Given the description of an element on the screen output the (x, y) to click on. 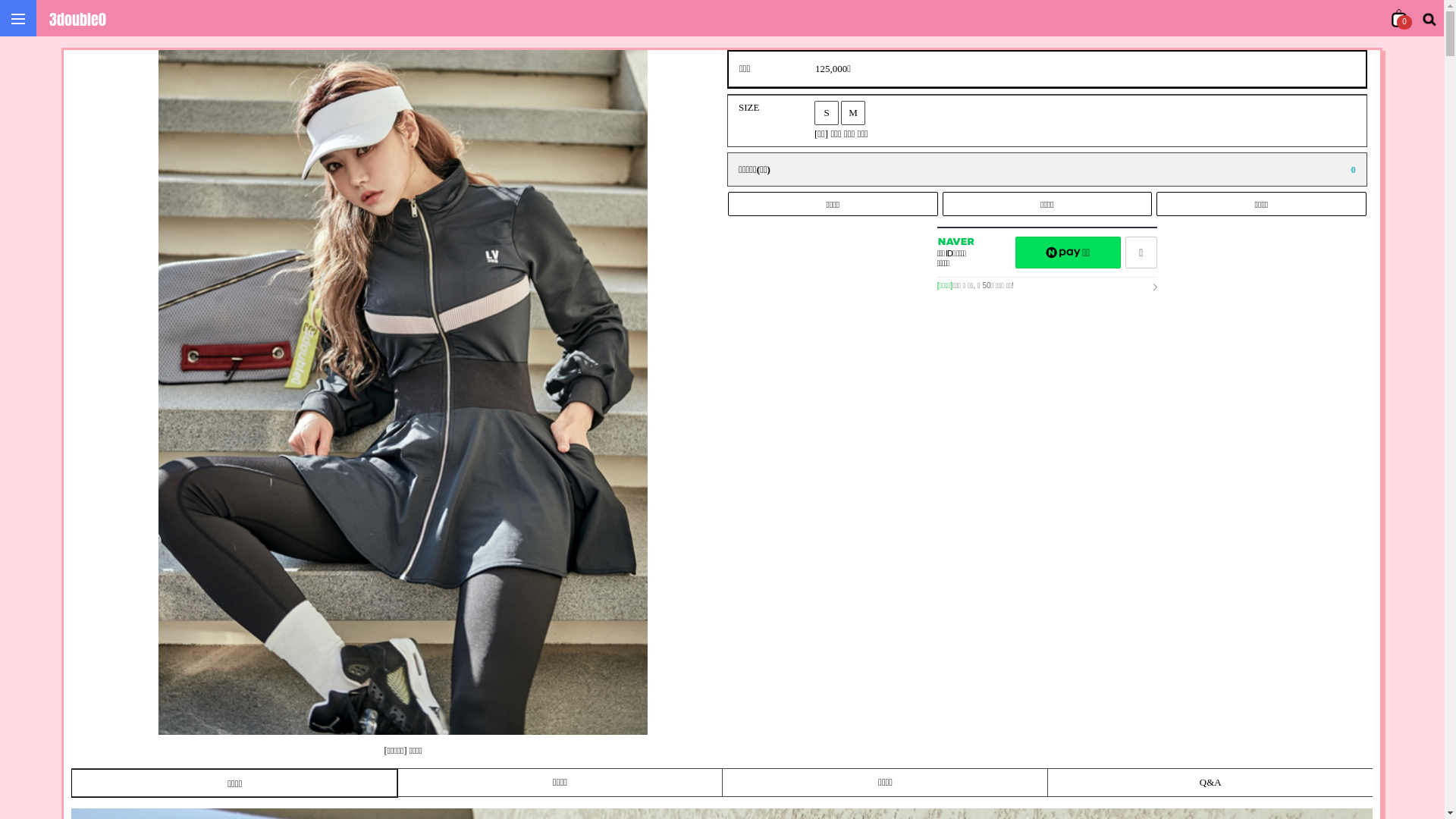
S Element type: text (826, 112)
3double0 Element type: text (77, 19)
Q&A Element type: text (1210, 782)
M Element type: text (852, 112)
